Given the description of an element on the screen output the (x, y) to click on. 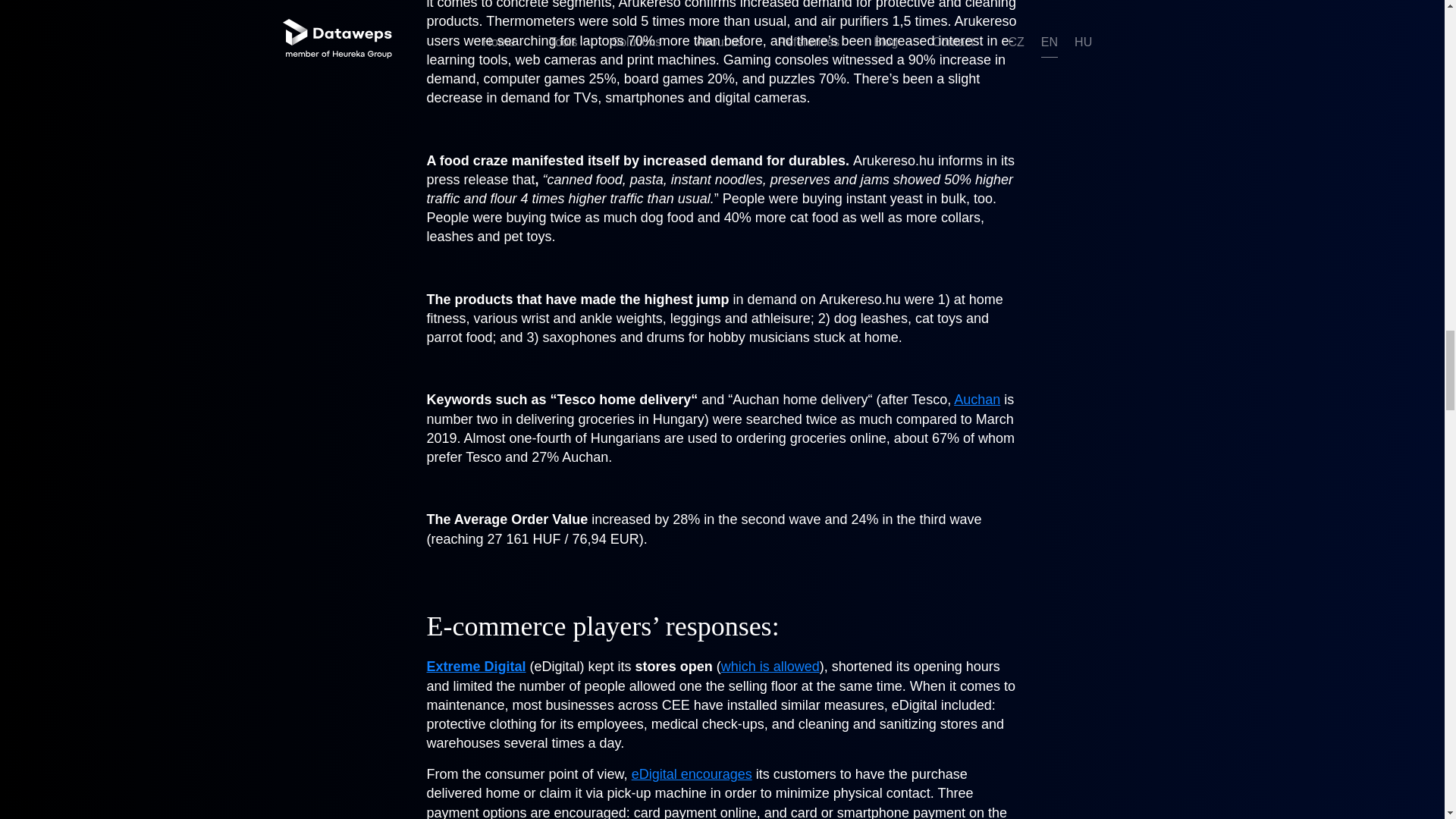
which is allowed (769, 666)
Extreme Digital (475, 666)
eDigital encourages (691, 774)
Auchan (976, 399)
